Given the description of an element on the screen output the (x, y) to click on. 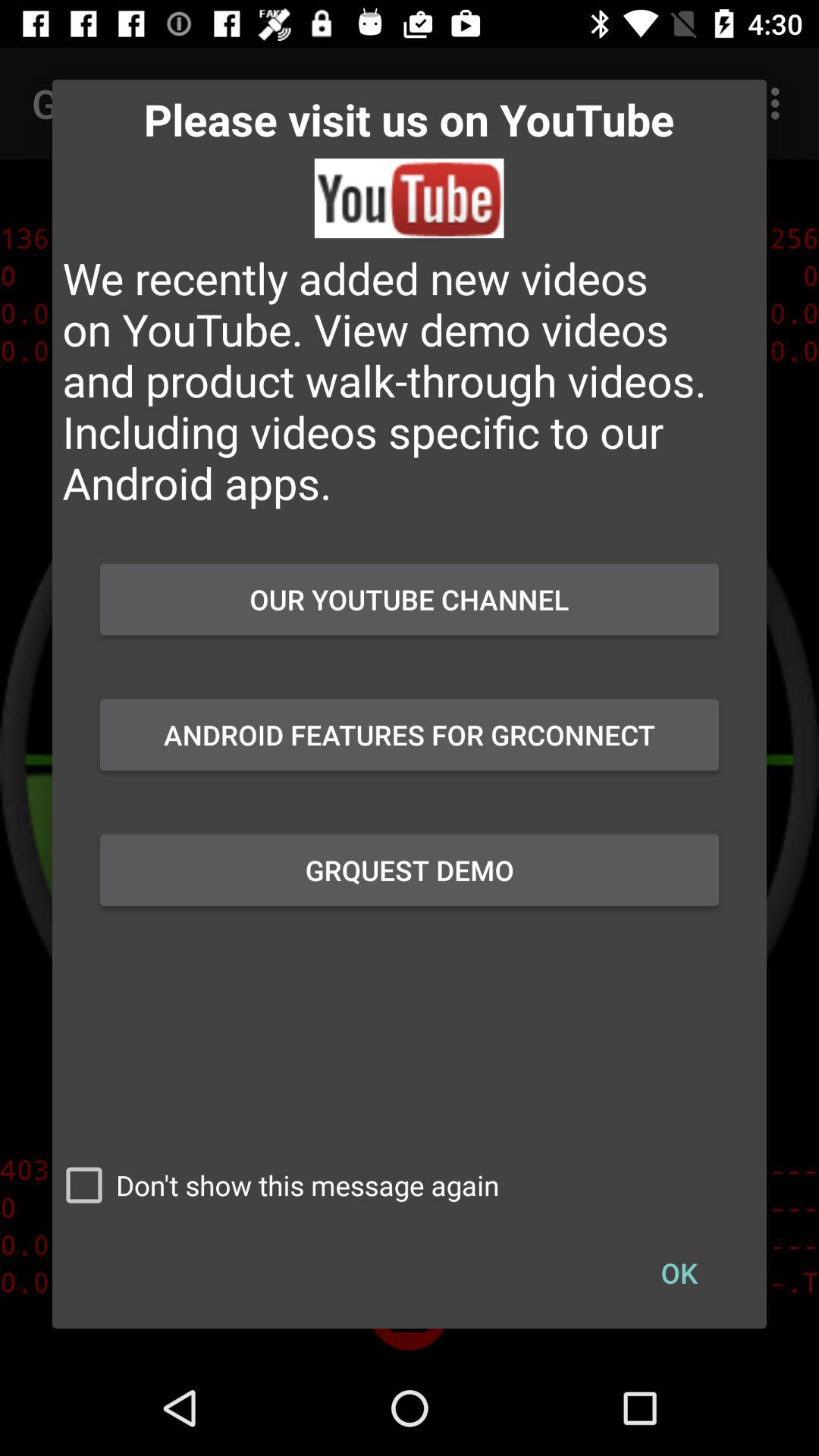
select button below our youtube channel (409, 734)
